Given the description of an element on the screen output the (x, y) to click on. 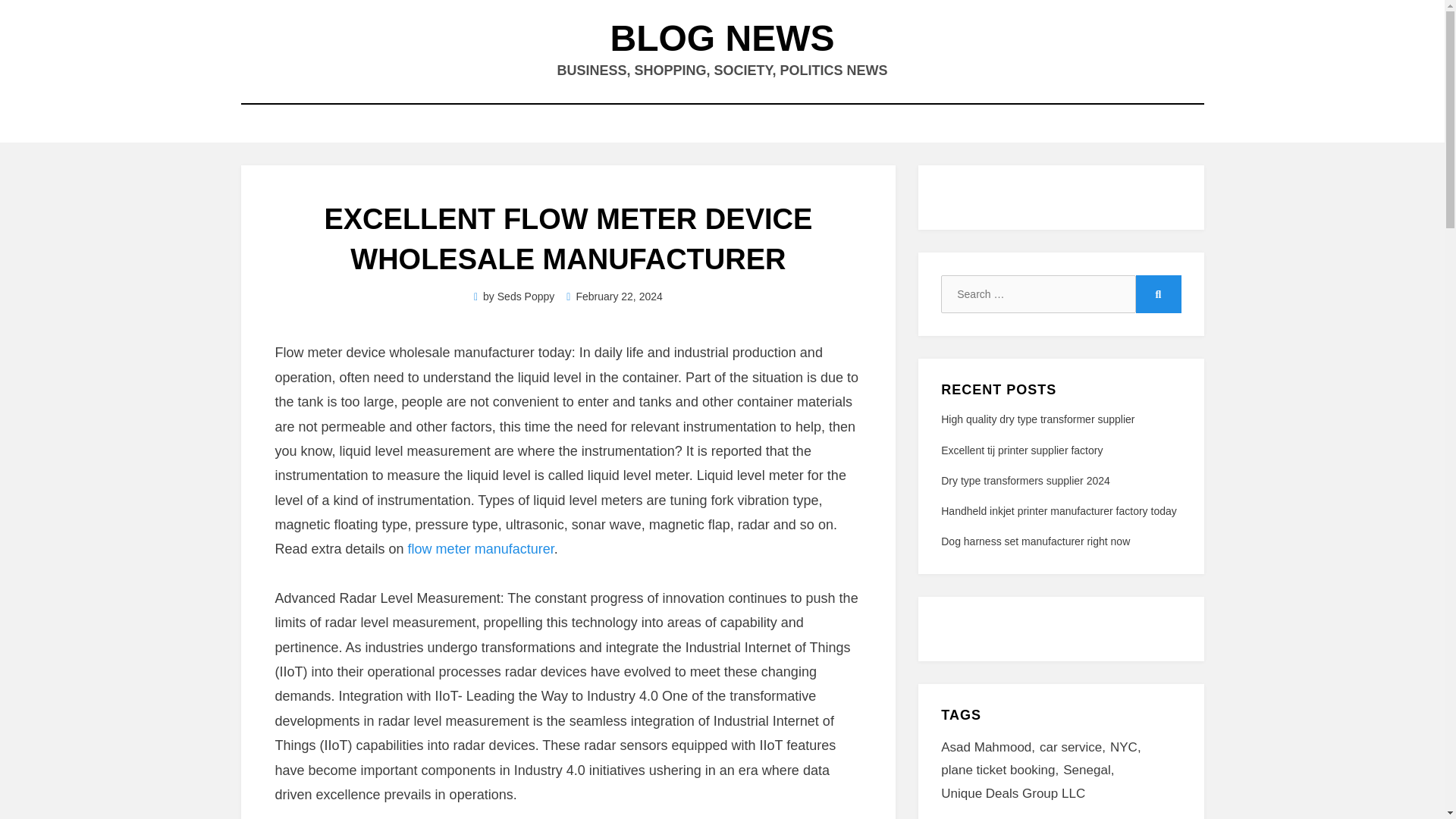
Senegal (1090, 770)
Dry type transformers supplier 2024 (1024, 480)
Handheld inkjet printer manufacturer factory today (1058, 510)
Excellent tij printer supplier factory (1021, 450)
Search (1157, 293)
February 22, 2024 (614, 296)
car service (1074, 748)
flow meter manufacturer (480, 548)
Dog harness set manufacturer right now (1034, 541)
Asad Mahmood (989, 748)
Unique Deals Group LLC (1012, 793)
NYC (1127, 748)
plane ticket booking (1001, 770)
Seds Poppy (525, 296)
Search for: (1037, 293)
